Given the description of an element on the screen output the (x, y) to click on. 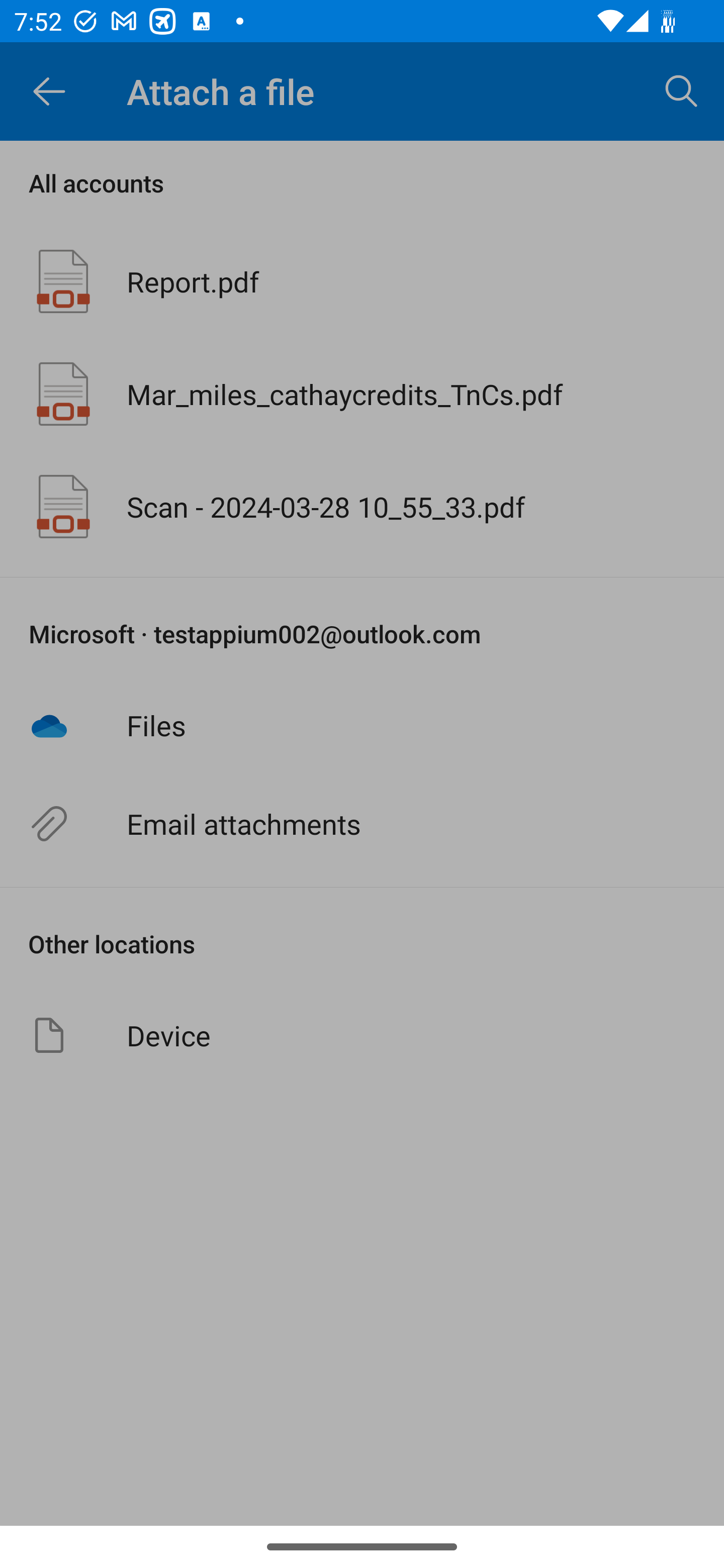
Navigate up (49, 91)
Search button (681, 90)
Report.pdf (362, 281)
Mar_miles_cathaycredits_TnCs.pdf (362, 393)
Scan - 2024-03-28 10_55_33.pdf (362, 506)
Files (362, 724)
Email attachments (362, 823)
Device (362, 1035)
